Given the description of an element on the screen output the (x, y) to click on. 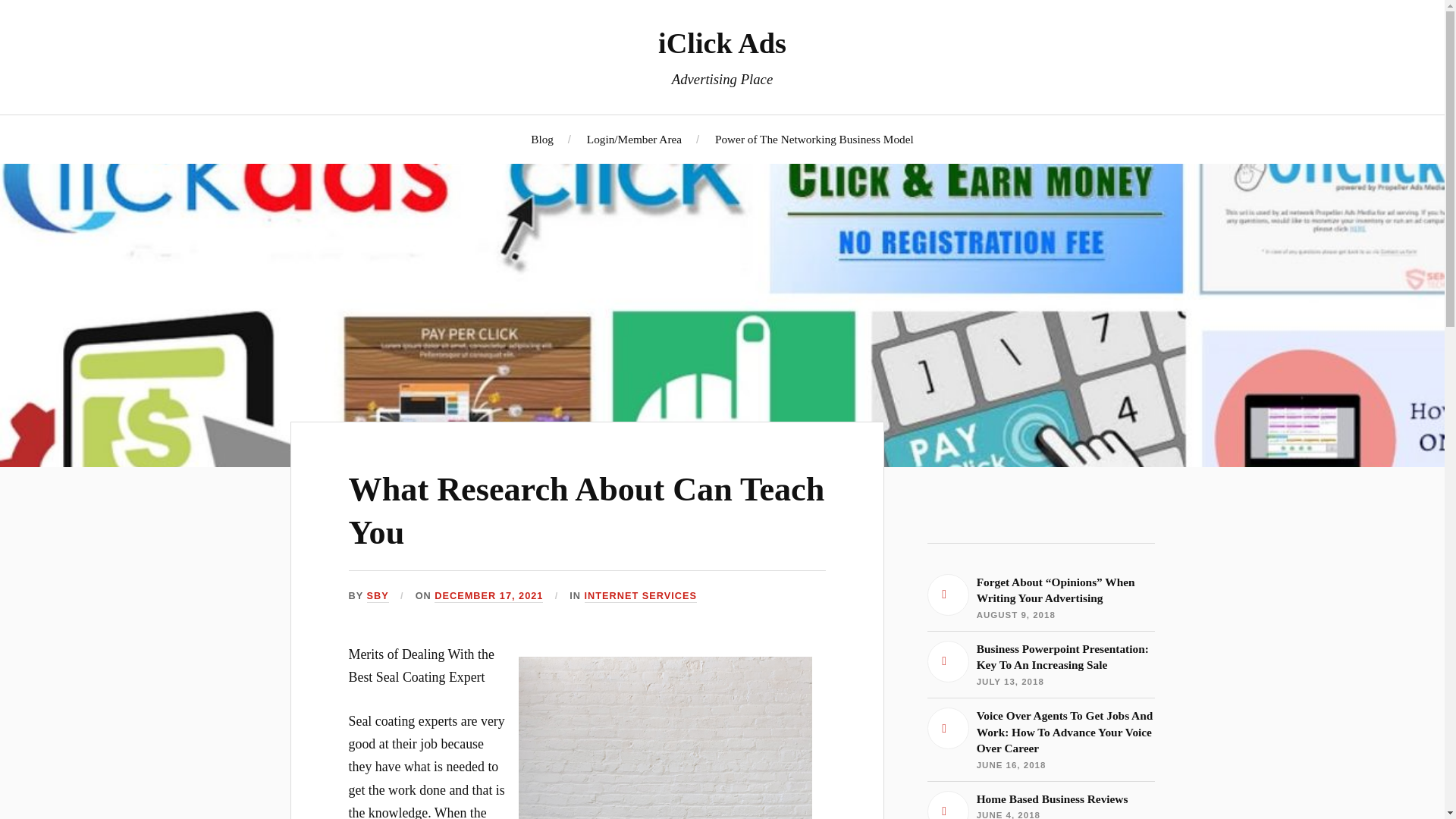
INTERNET SERVICES (641, 595)
Posts by sby (1040, 805)
SBY (377, 595)
Power of The Networking Business Model (377, 595)
Business Powerpoint Presentation: Key To An Increasing Sale (814, 138)
What Research About Can Teach You (1040, 664)
iClick Ads (587, 510)
Home Based Business Reviews (722, 42)
DECEMBER 17, 2021 (1040, 805)
